Given the description of an element on the screen output the (x, y) to click on. 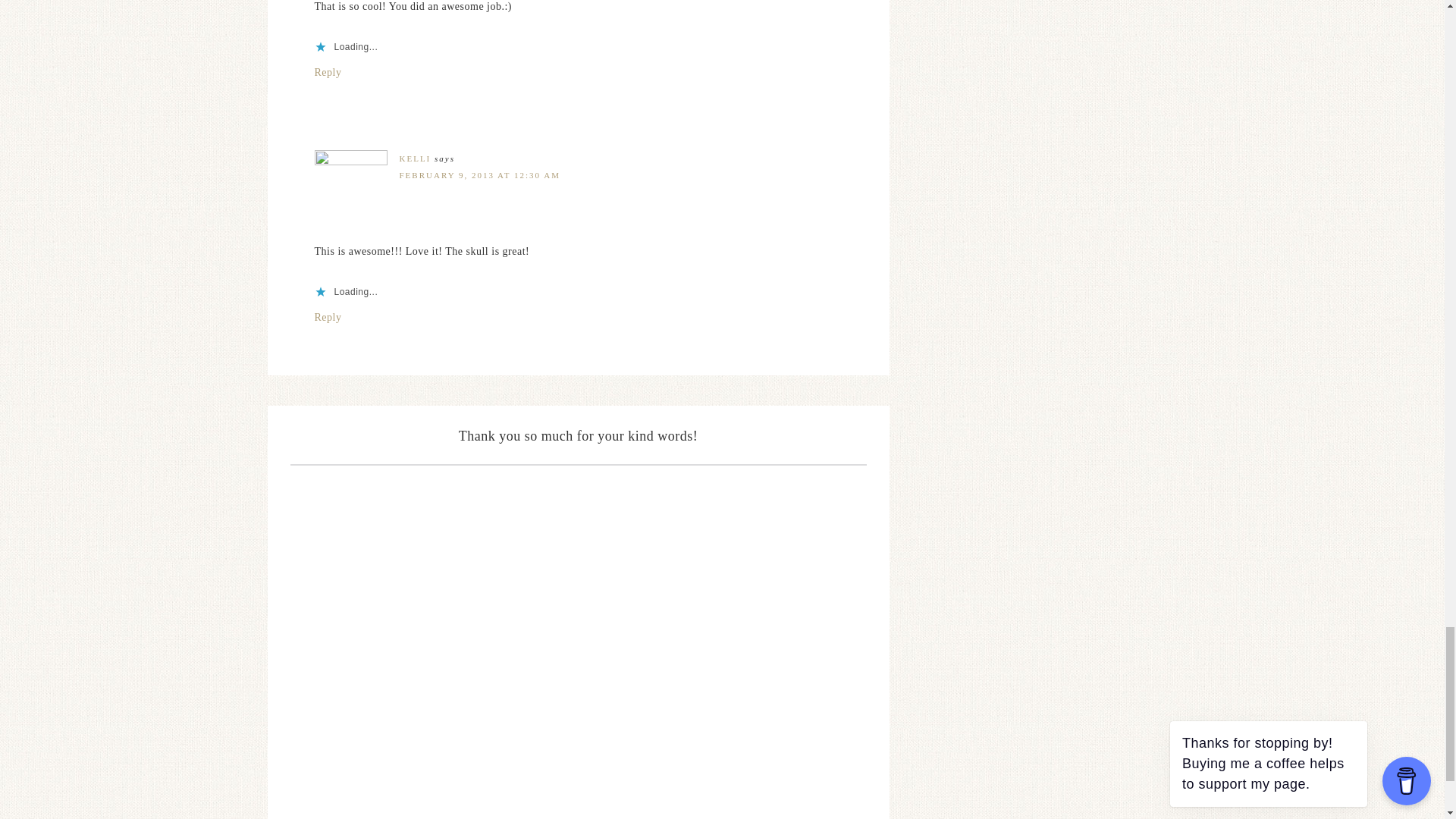
KELLI (414, 157)
FEBRUARY 9, 2013 AT 12:30 AM (478, 174)
Reply (327, 317)
Reply (327, 71)
